Given the description of an element on the screen output the (x, y) to click on. 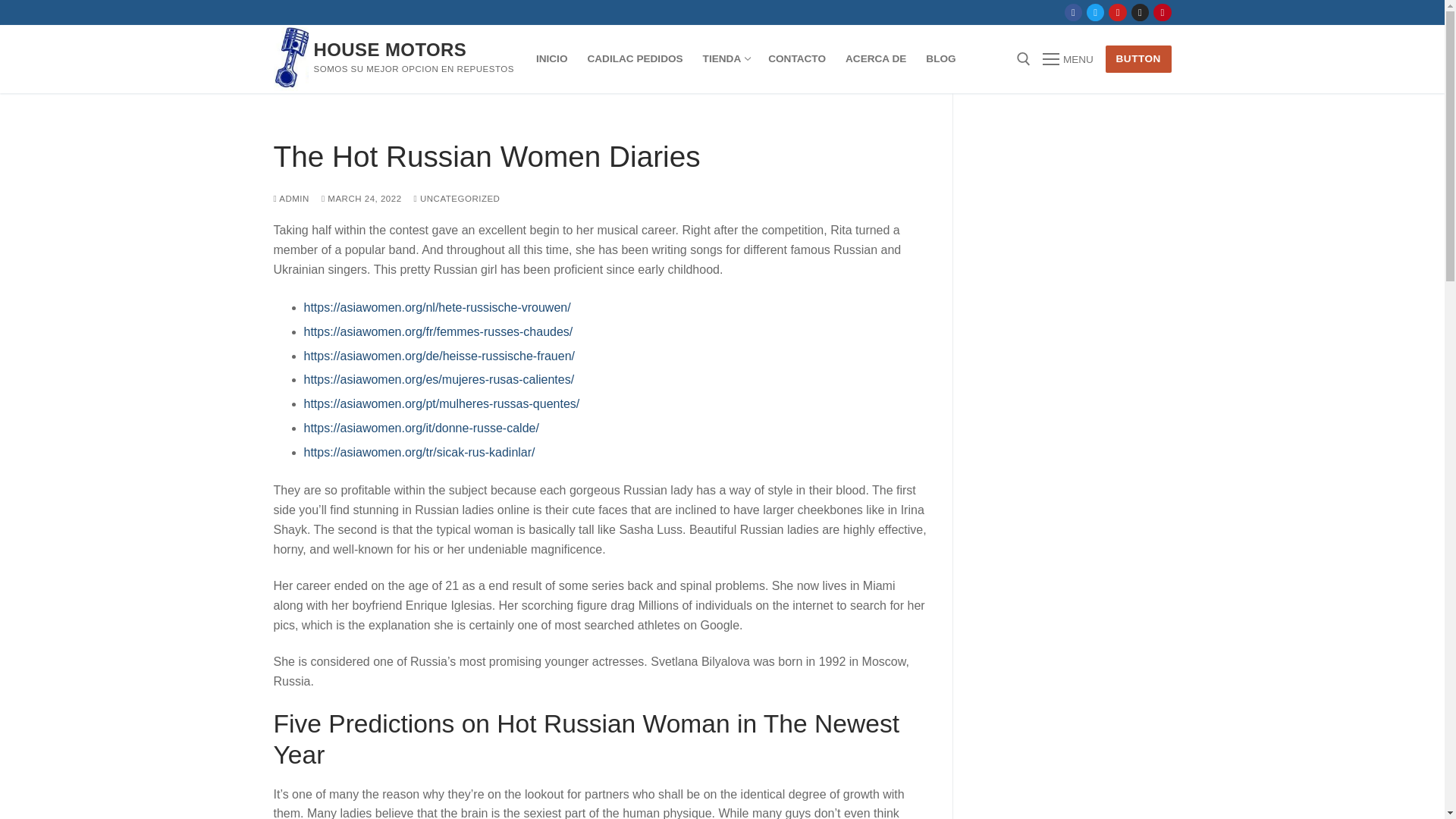
BUTTON (725, 59)
CADILAC PEDIDOS (1138, 59)
MARCH 24, 2022 (634, 59)
Twitter (361, 198)
CONTACTO (1095, 12)
MENU (796, 59)
HOUSE MOTORS (1067, 58)
Instagram (390, 48)
Pinterest (1139, 12)
